Given the description of an element on the screen output the (x, y) to click on. 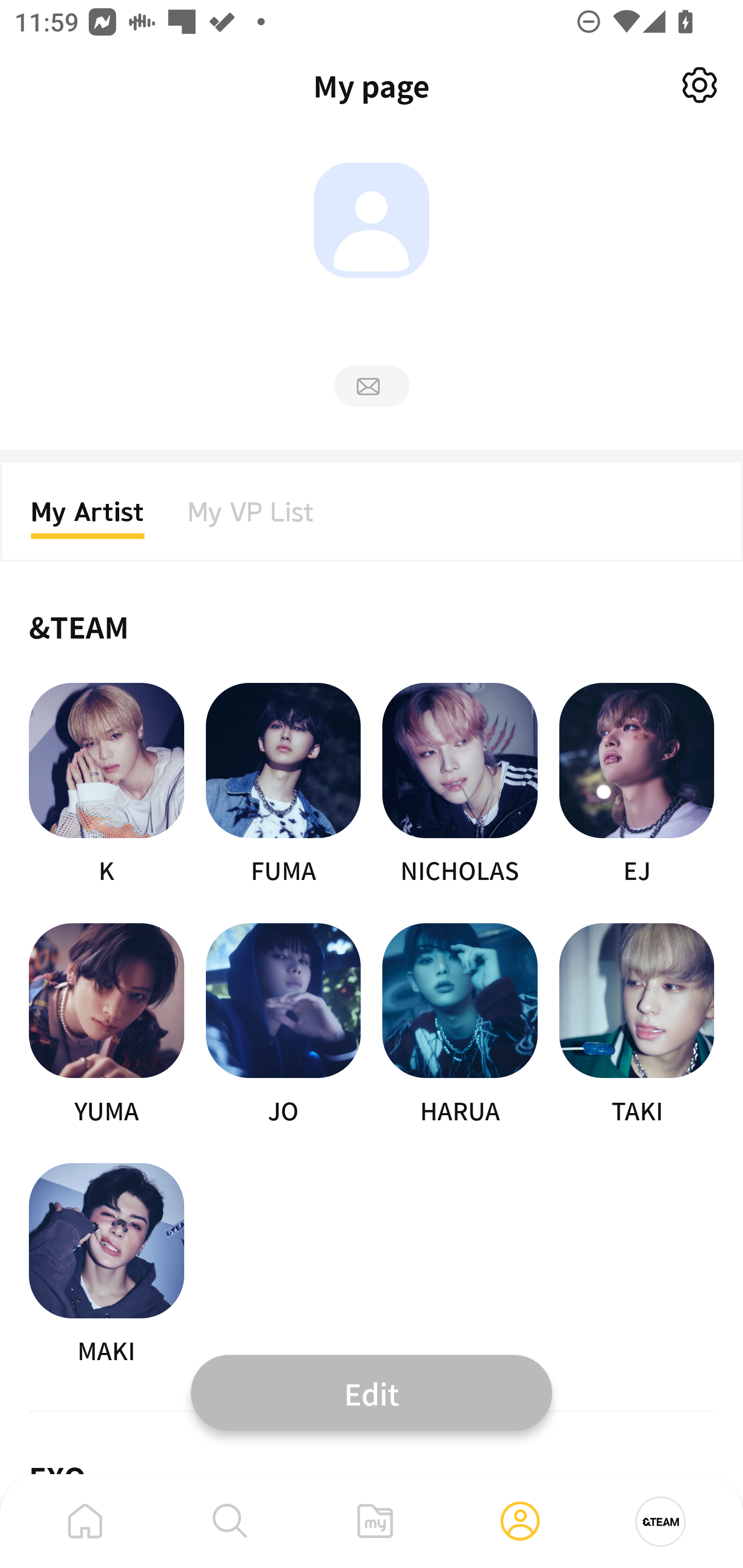
My Artist (87, 517)
My VP List (250, 517)
K (106, 785)
FUMA (282, 785)
NICHOLAS (459, 785)
EJ (636, 785)
YUMA (106, 1025)
JO (282, 1025)
HARUA (459, 1025)
TAKI (636, 1025)
MAKI (106, 1265)
Edit (371, 1392)
